Given the description of an element on the screen output the (x, y) to click on. 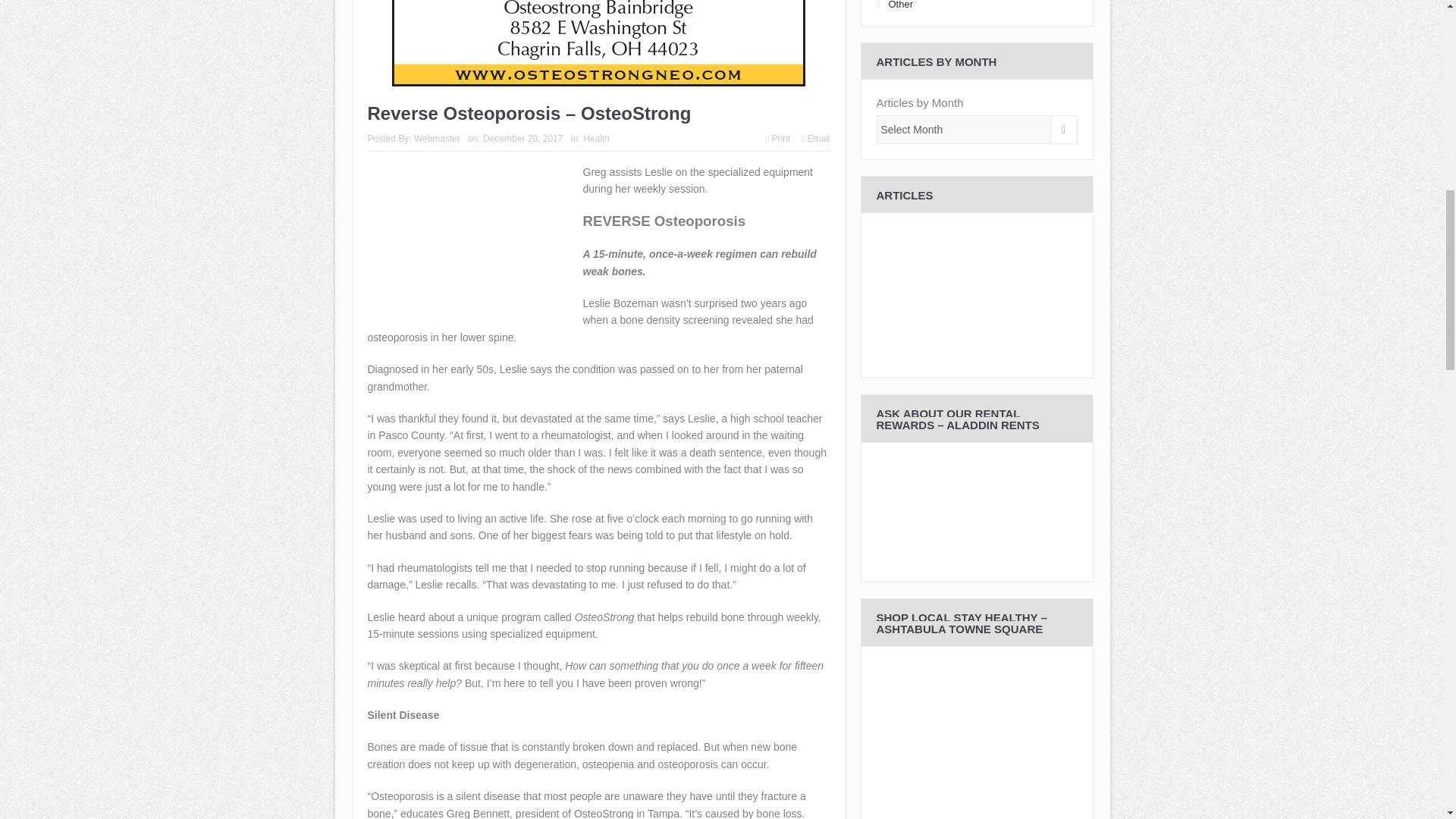
Webmaster (436, 138)
Health (596, 138)
Email (815, 138)
View all posts in Health (596, 138)
Print (777, 138)
